Given the description of an element on the screen output the (x, y) to click on. 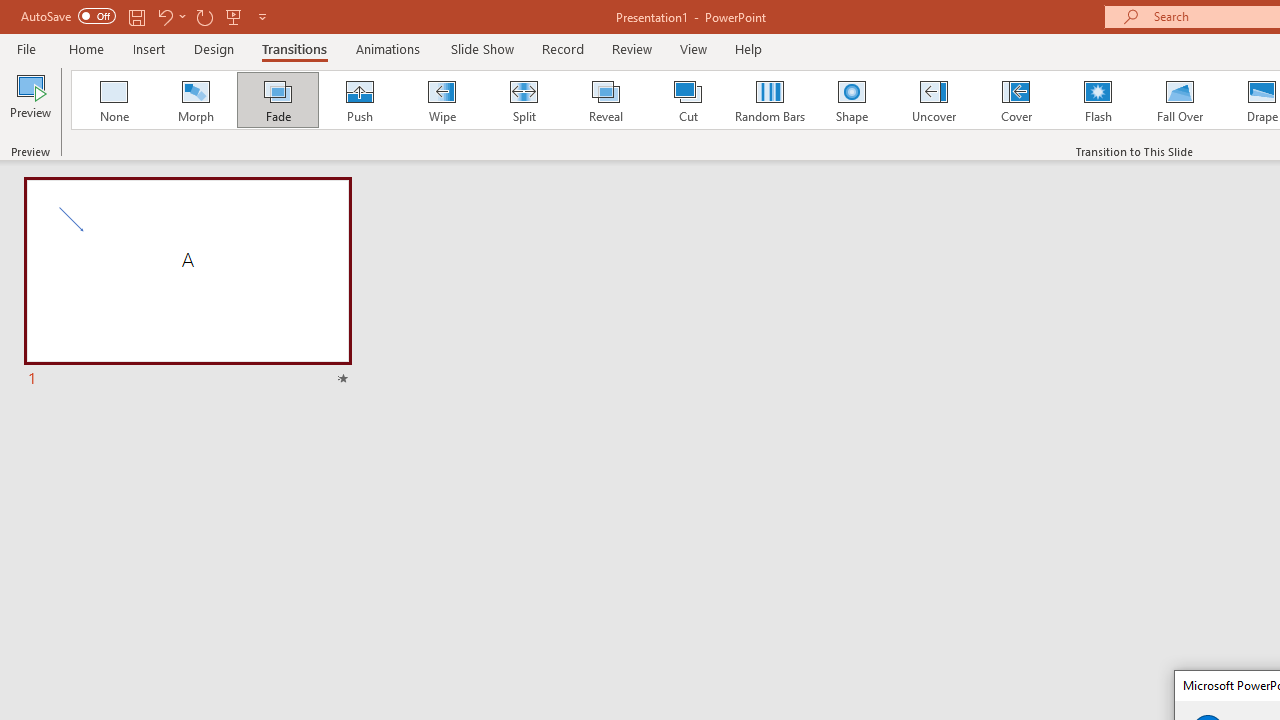
Uncover (934, 100)
Cover (1016, 100)
Push (359, 100)
